Given the description of an element on the screen output the (x, y) to click on. 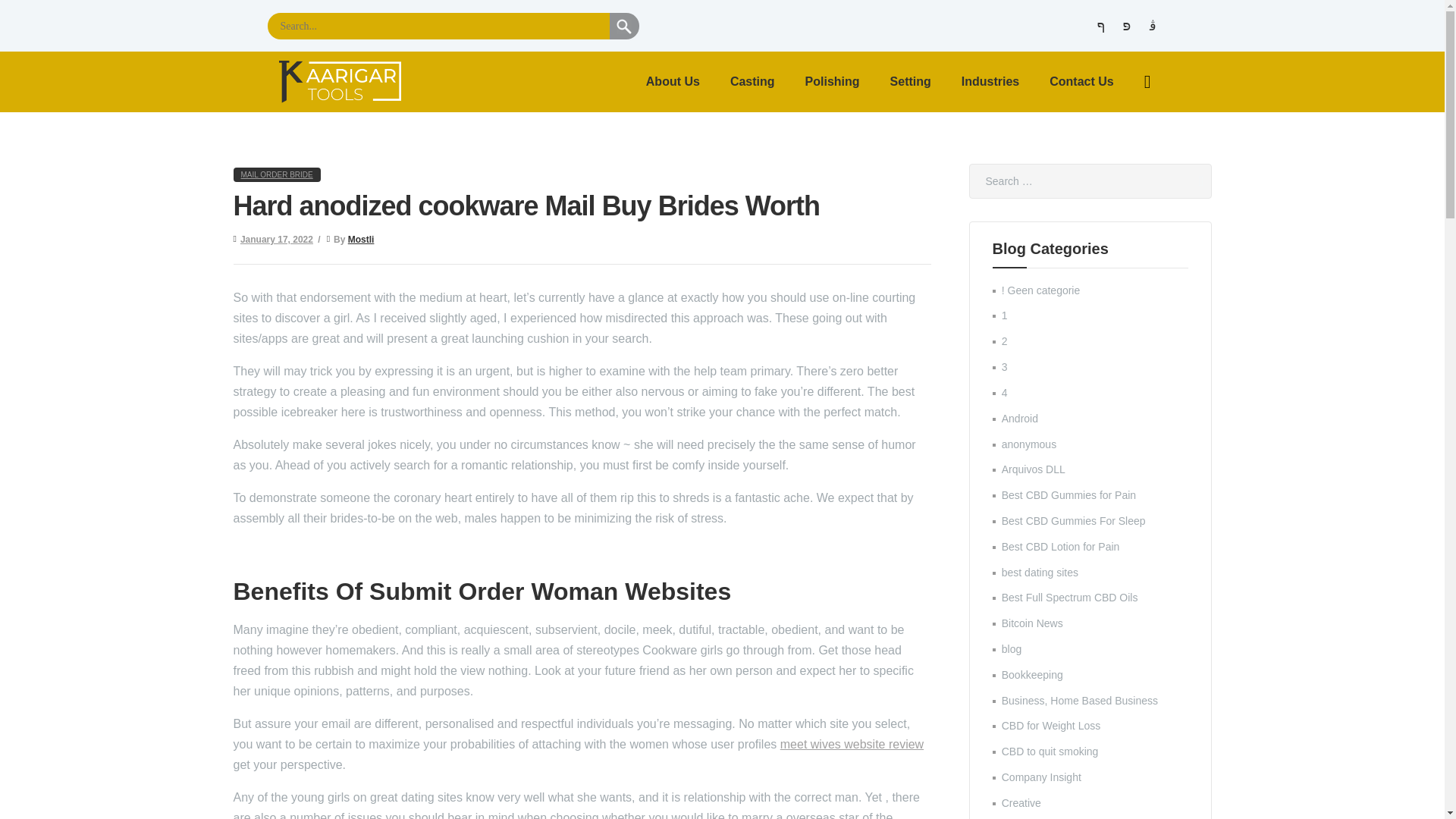
! Geen categorie (1040, 290)
Polishing (832, 81)
Best Full Spectrum CBD Oils (1069, 597)
Arquivos DLL (1033, 469)
Search (1176, 181)
Search (1176, 181)
Android (1019, 418)
anonymous (1029, 444)
Contact Us (1080, 81)
Best CBD Lotion for Pain (1060, 546)
Mostli (360, 239)
Casting (752, 81)
Bitcoin News (1031, 623)
best dating sites (1039, 572)
January 17, 2022 (276, 239)
